Given the description of an element on the screen output the (x, y) to click on. 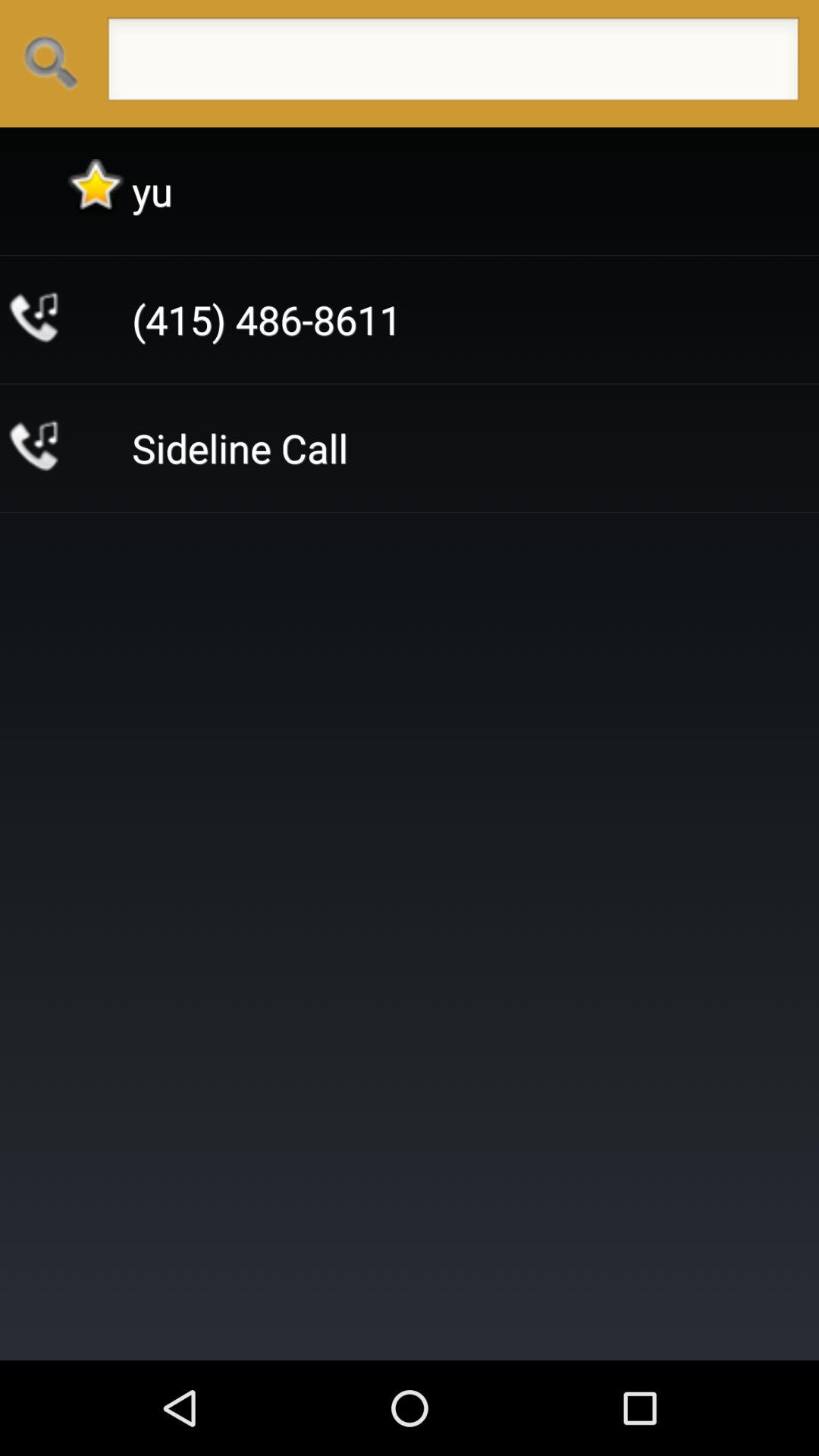
search for contacts (453, 63)
